Given the description of an element on the screen output the (x, y) to click on. 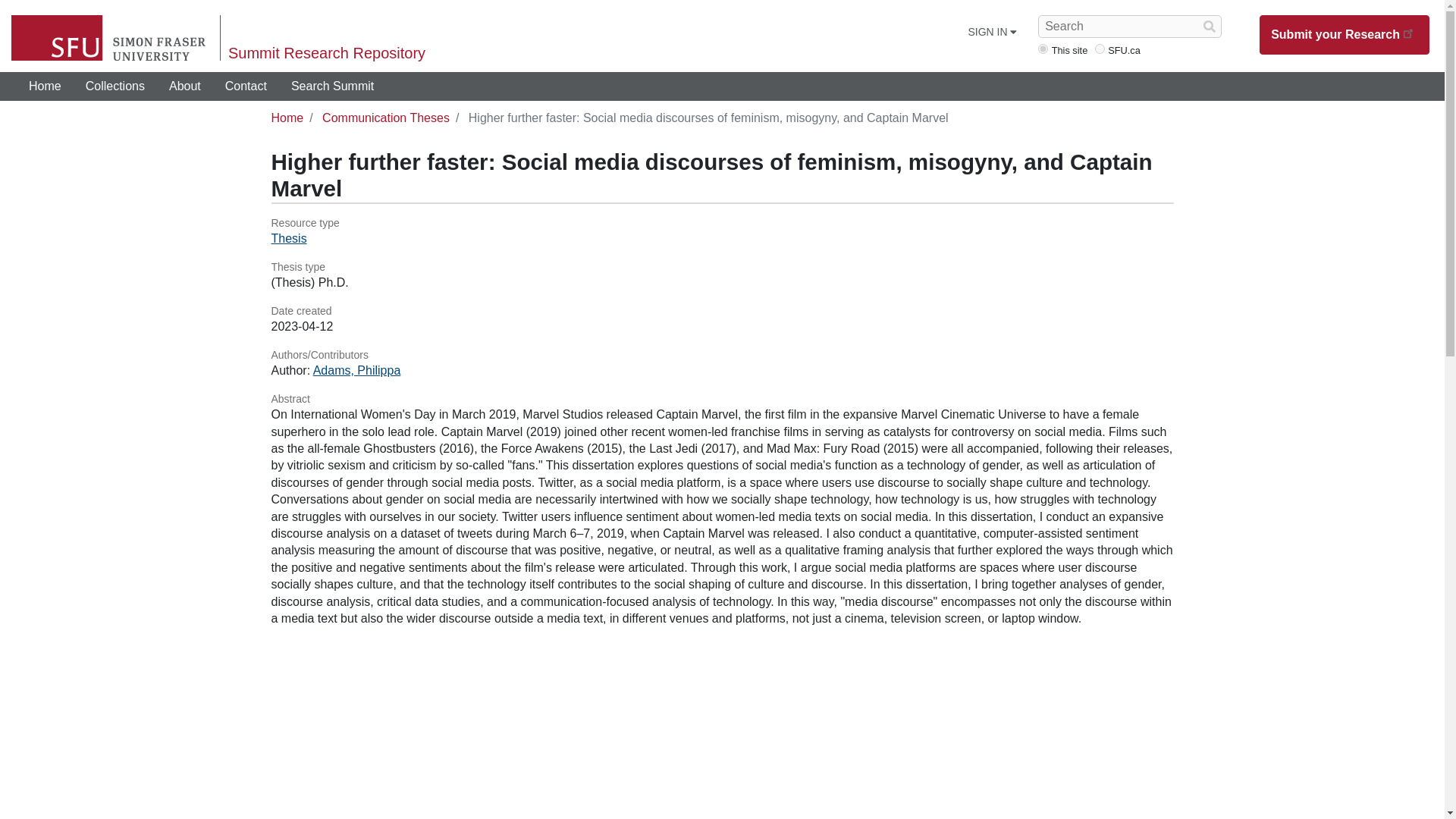
Search Summit (332, 86)
About (184, 86)
Adams, Philippa (357, 369)
Contact details (245, 86)
Home (45, 86)
Browse SFU collections of theses and published works (115, 86)
navbar-sfu (1099, 49)
Thesis type (721, 267)
Resource type (721, 223)
Summit Research Repository (326, 53)
Summit Research Repository (326, 53)
Home (287, 117)
Contact (245, 86)
About this site (184, 86)
